Given the description of an element on the screen output the (x, y) to click on. 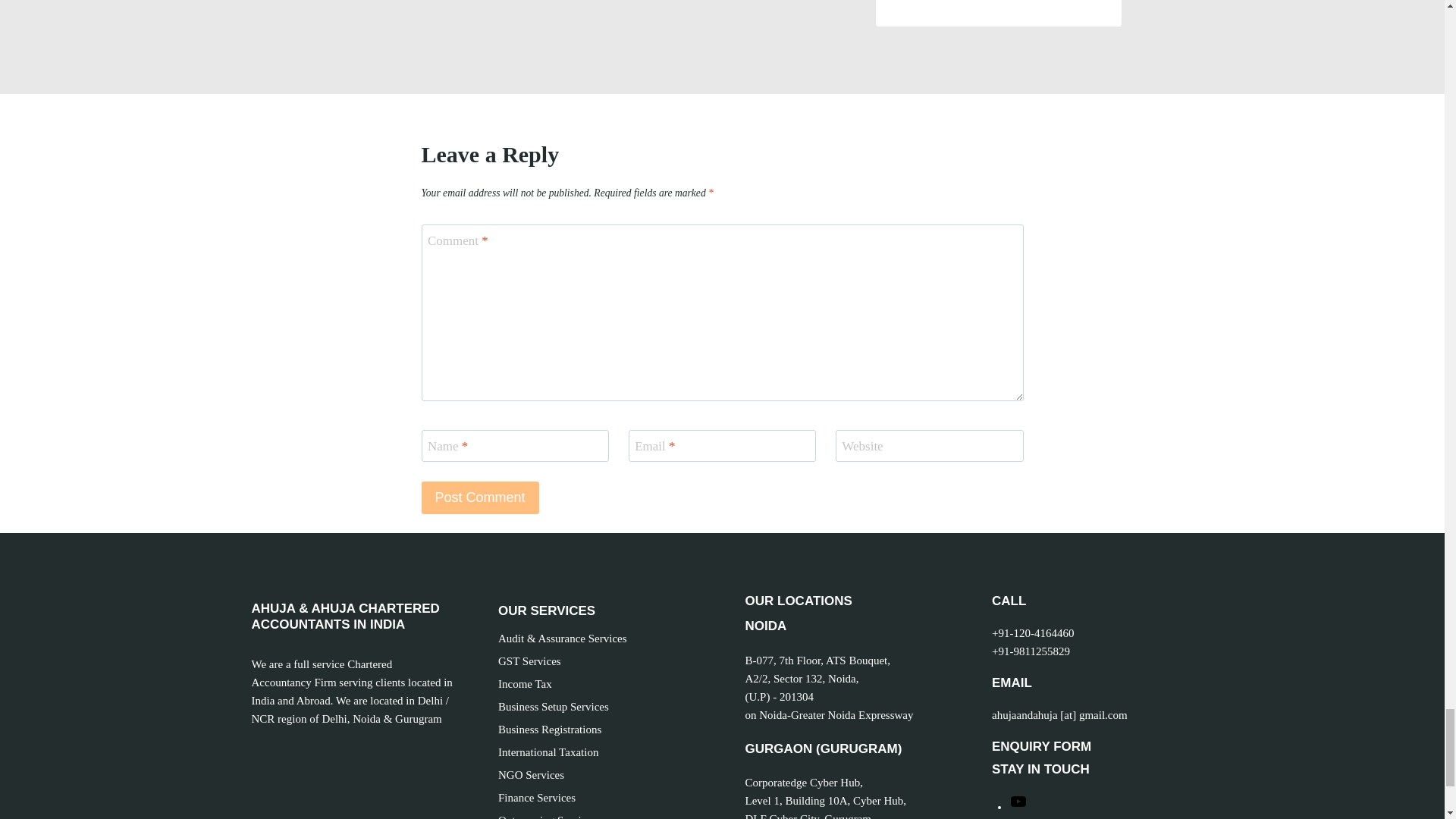
Post Comment (480, 497)
